Given the description of an element on the screen output the (x, y) to click on. 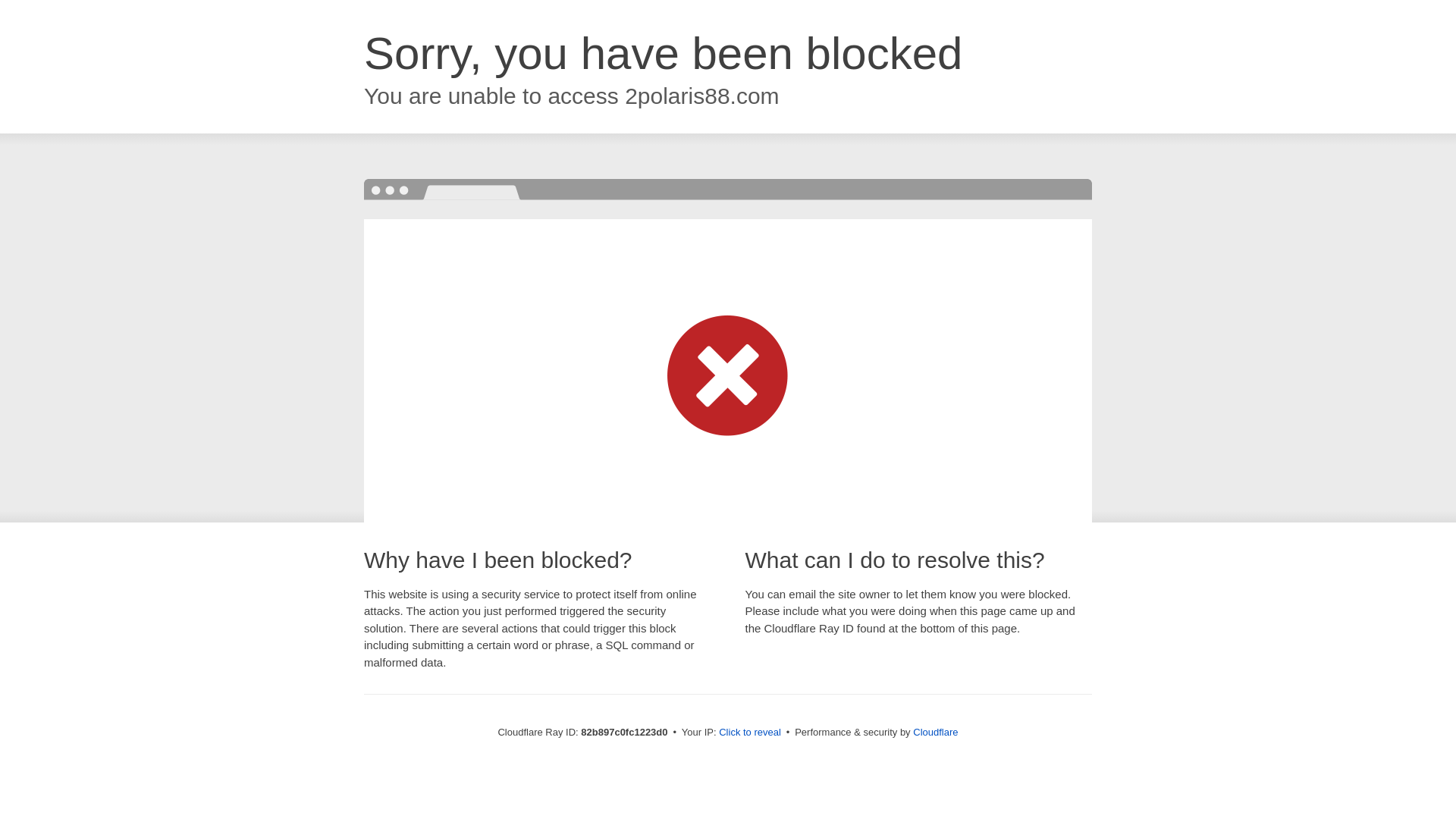
Cloudflare Element type: text (935, 731)
Click to reveal Element type: text (749, 732)
